Given the description of an element on the screen output the (x, y) to click on. 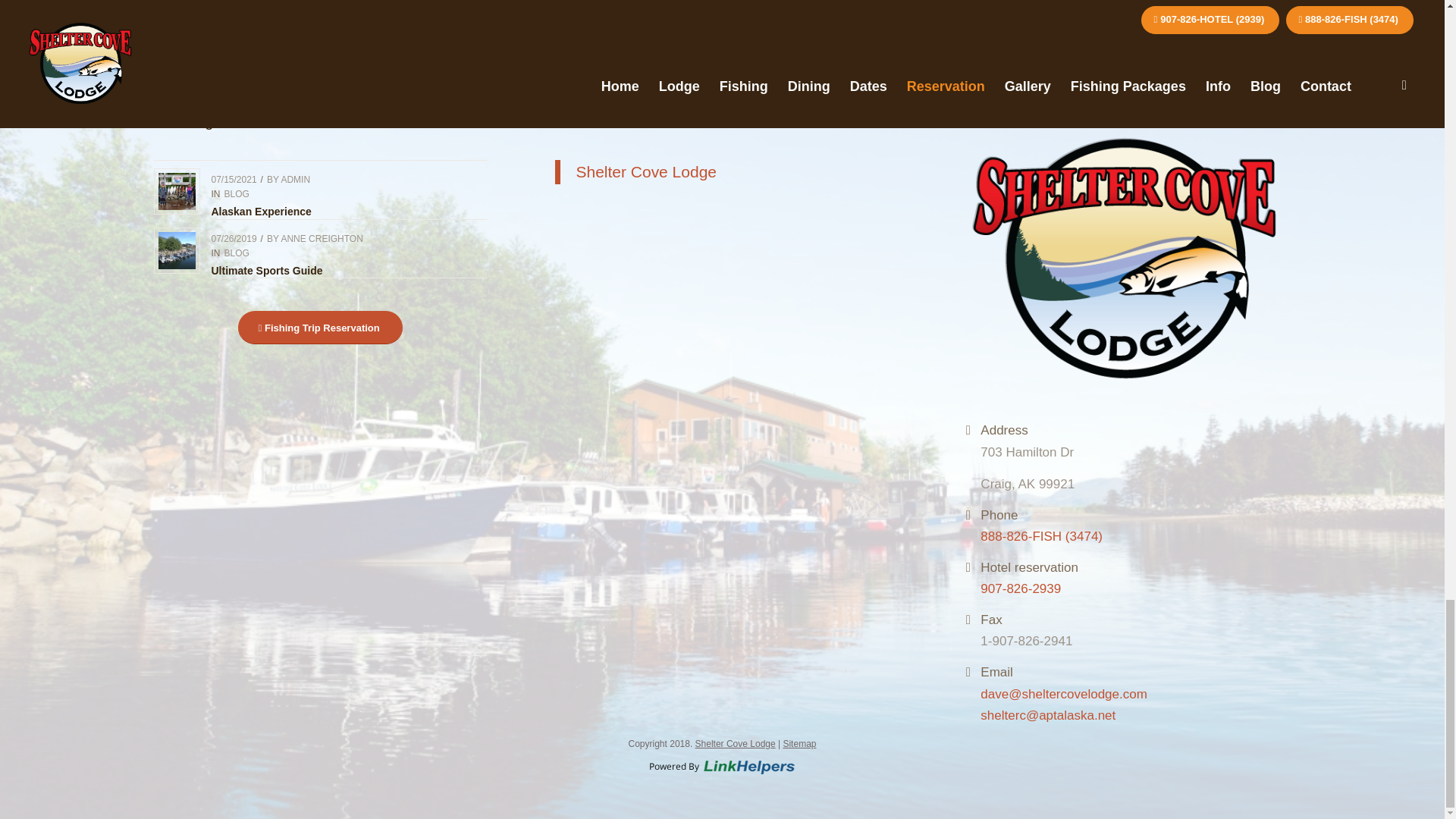
ADMIN (295, 179)
Alaskan Experience (261, 211)
Fishing Trip Reservation (319, 327)
BLOG (236, 253)
ANNE CREIGHTON (321, 238)
BLOG (236, 194)
Link to: Alaskan Experience (176, 190)
Ultimate Sports Guide (266, 270)
Shelter Cove Lodge (645, 171)
